Given the description of an element on the screen output the (x, y) to click on. 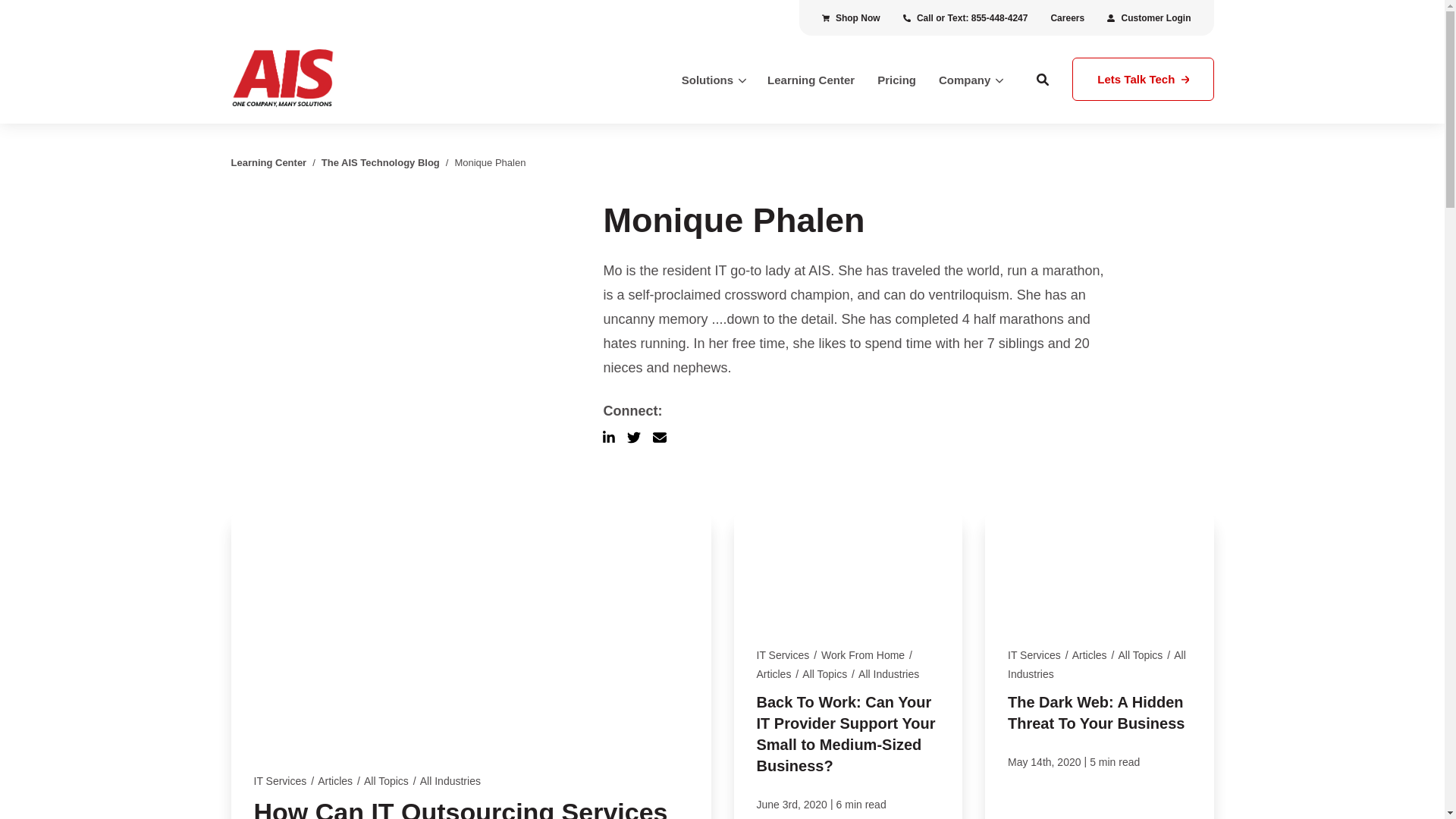
Learning Center (810, 79)
ais logo with white shadow (337, 79)
Articles (774, 674)
The AIS Technology Blog (380, 162)
Open Search (1043, 79)
All Topics (386, 780)
All Industries (450, 780)
Careers (1067, 18)
Learning Center (267, 162)
